Given the description of an element on the screen output the (x, y) to click on. 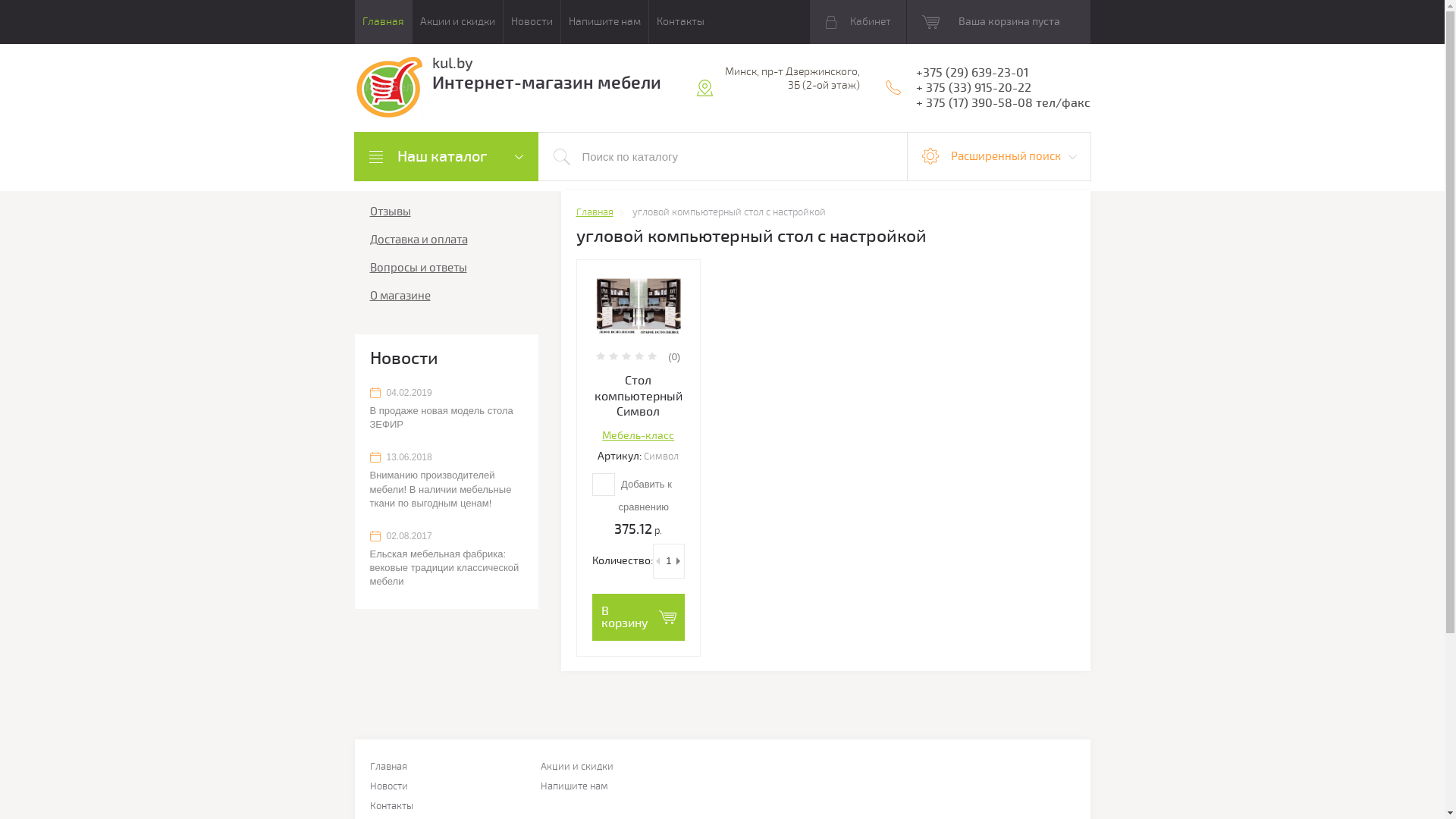
kul.by Element type: text (452, 62)
+375 (29) 639-23-01 Element type: text (972, 72)
+ 375 (33) 915-20-22 Element type: text (973, 87)
